Given the description of an element on the screen output the (x, y) to click on. 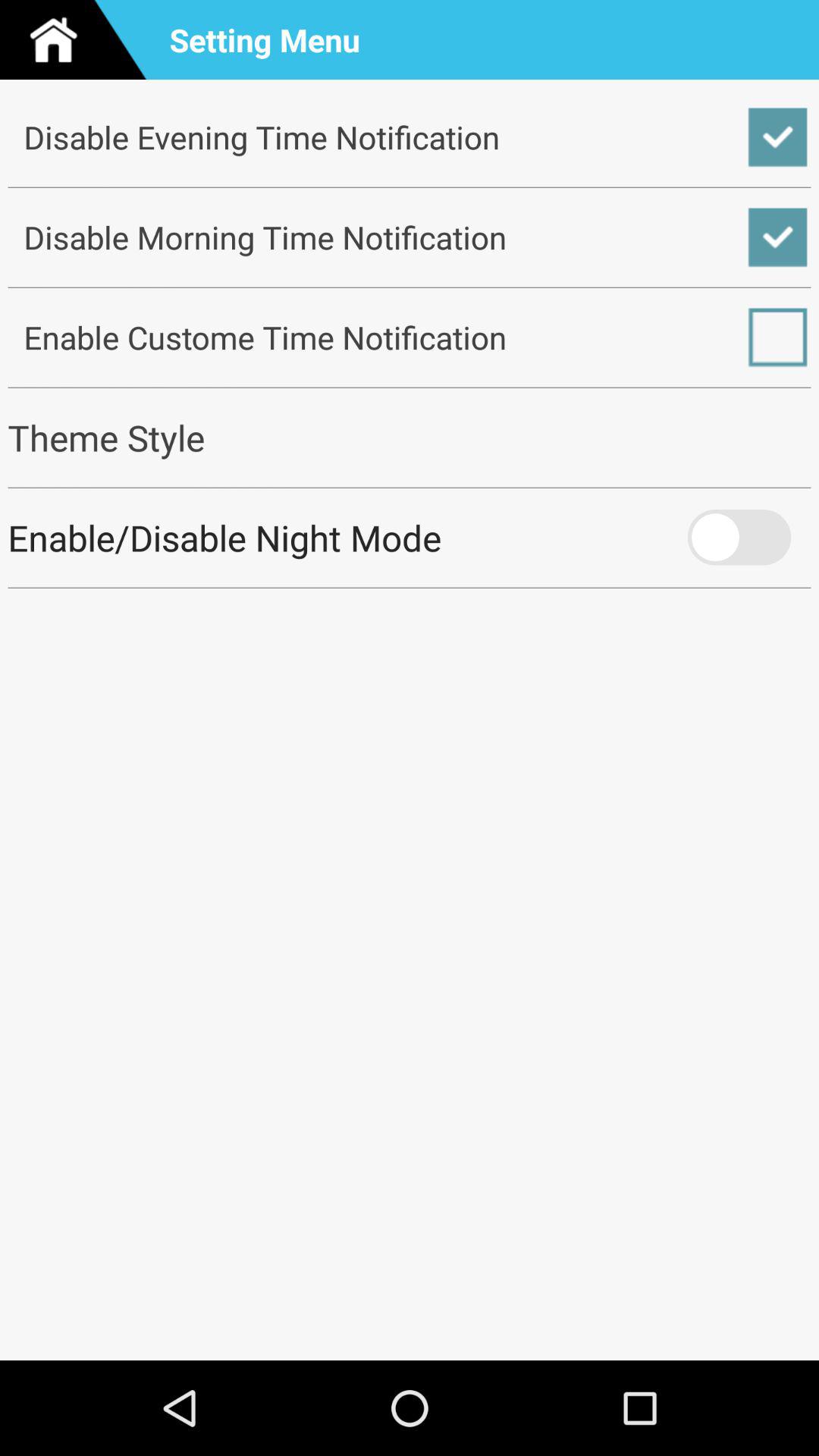
press the checkbox below the enable custome time (409, 437)
